Given the description of an element on the screen output the (x, y) to click on. 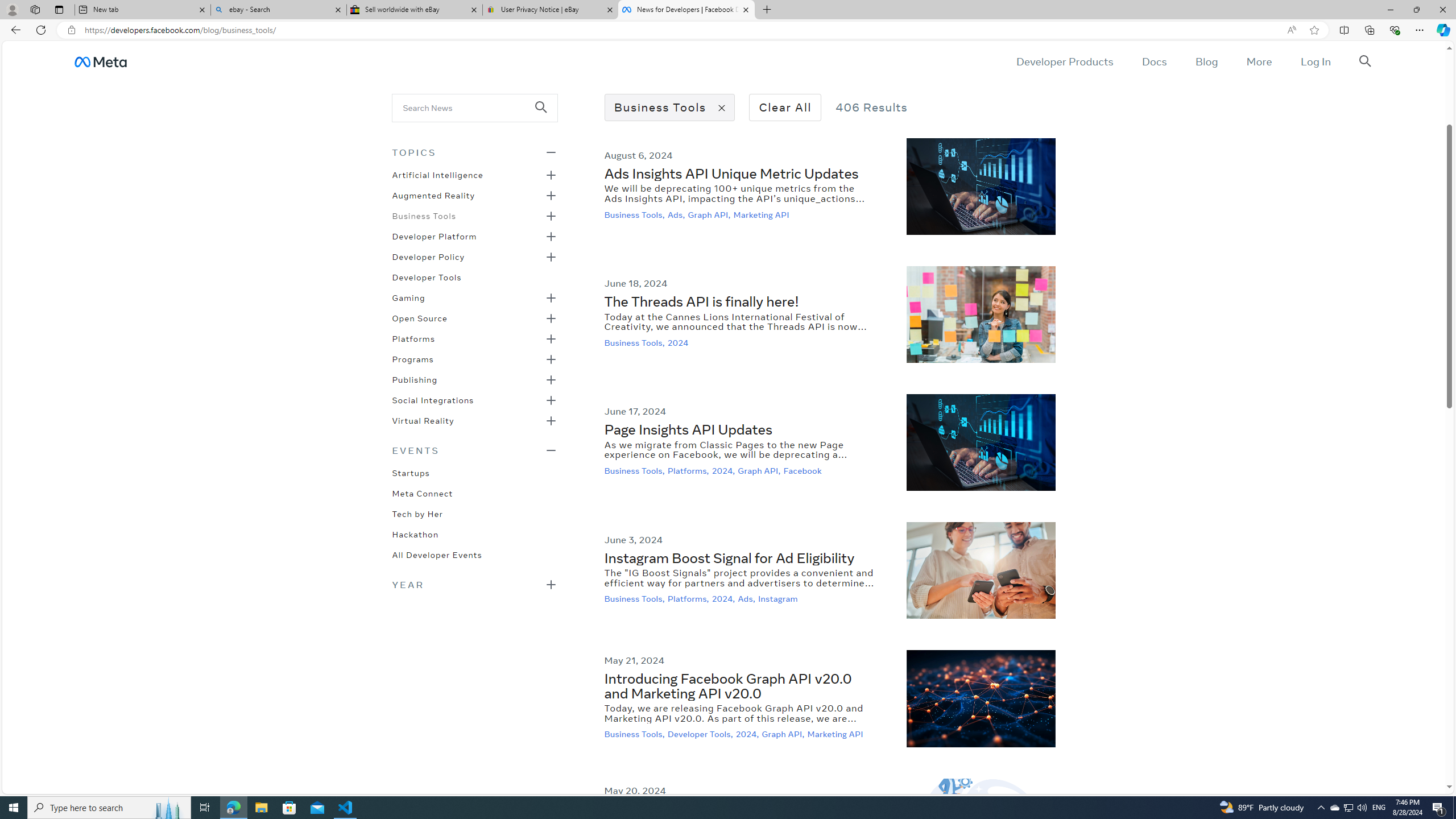
Personal Profile (12, 9)
Refresh (40, 29)
Log In (1315, 61)
Copilot (Ctrl+Shift+.) (1442, 29)
Startups (410, 472)
Tab actions menu (58, 9)
Developer Tools (426, 276)
Minimize (1390, 9)
Developer Platform (434, 235)
Restore (1416, 9)
Gaming (408, 296)
Developer Policy (428, 255)
Business Tools, (636, 733)
Open Source (418, 317)
